Given the description of an element on the screen output the (x, y) to click on. 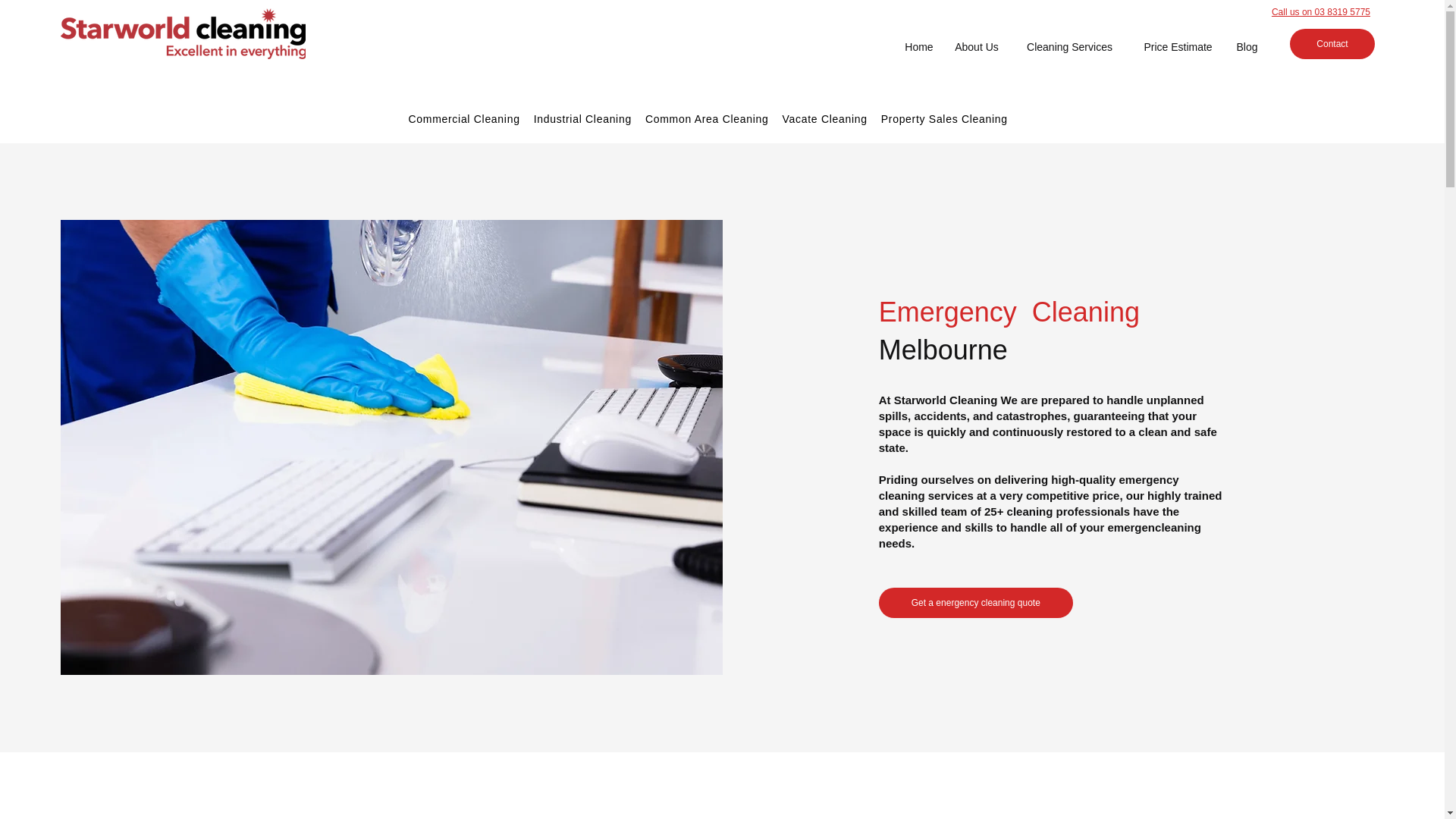
Common Area Cleaning (707, 119)
Vacate Cleaning (824, 119)
Contact (1332, 43)
About Us (976, 47)
Industrial Cleaning (581, 119)
Home (919, 47)
Blog (1246, 47)
Commercial Cleaning (464, 119)
Call us on 03 8319 5775 (1320, 11)
